Given the description of an element on the screen output the (x, y) to click on. 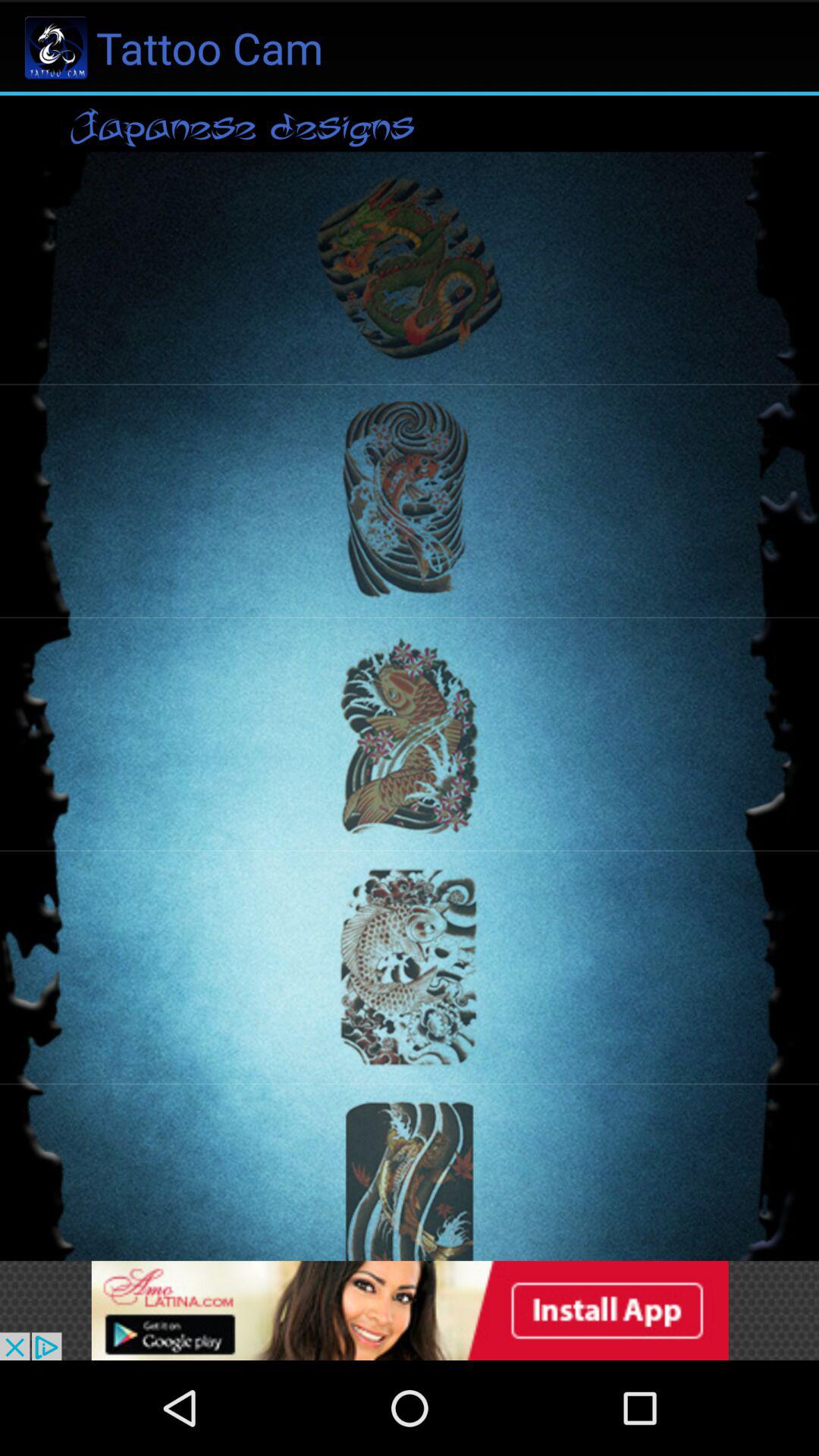
go to link in advertisement (409, 1310)
